Given the description of an element on the screen output the (x, y) to click on. 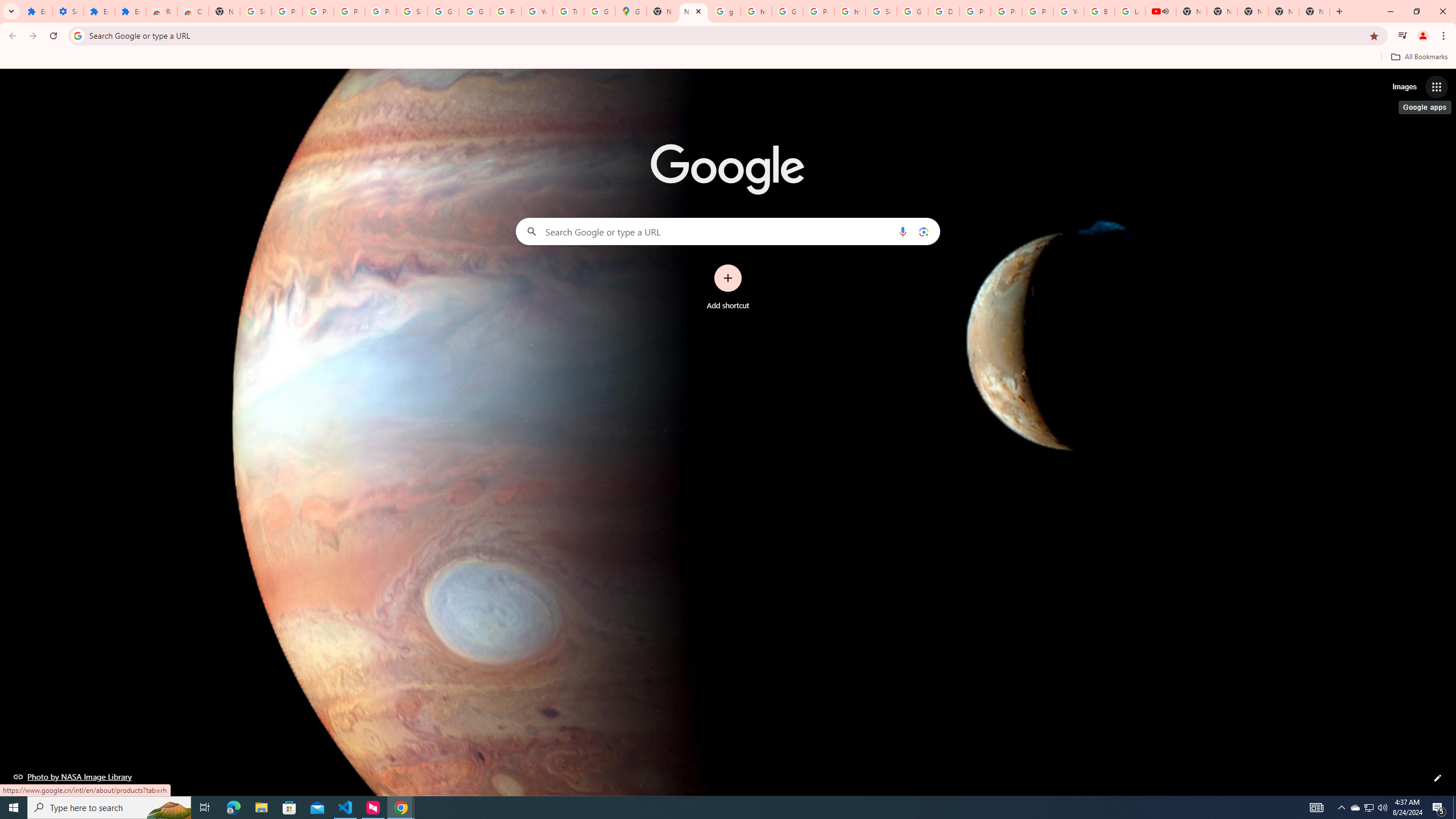
Add shortcut (727, 287)
Settings (67, 11)
New Tab (693, 11)
Bookmarks (728, 58)
Customize this page (1437, 778)
Privacy Help Center - Policies Help (1005, 11)
https://scholar.google.com/ (756, 11)
